Given the description of an element on the screen output the (x, y) to click on. 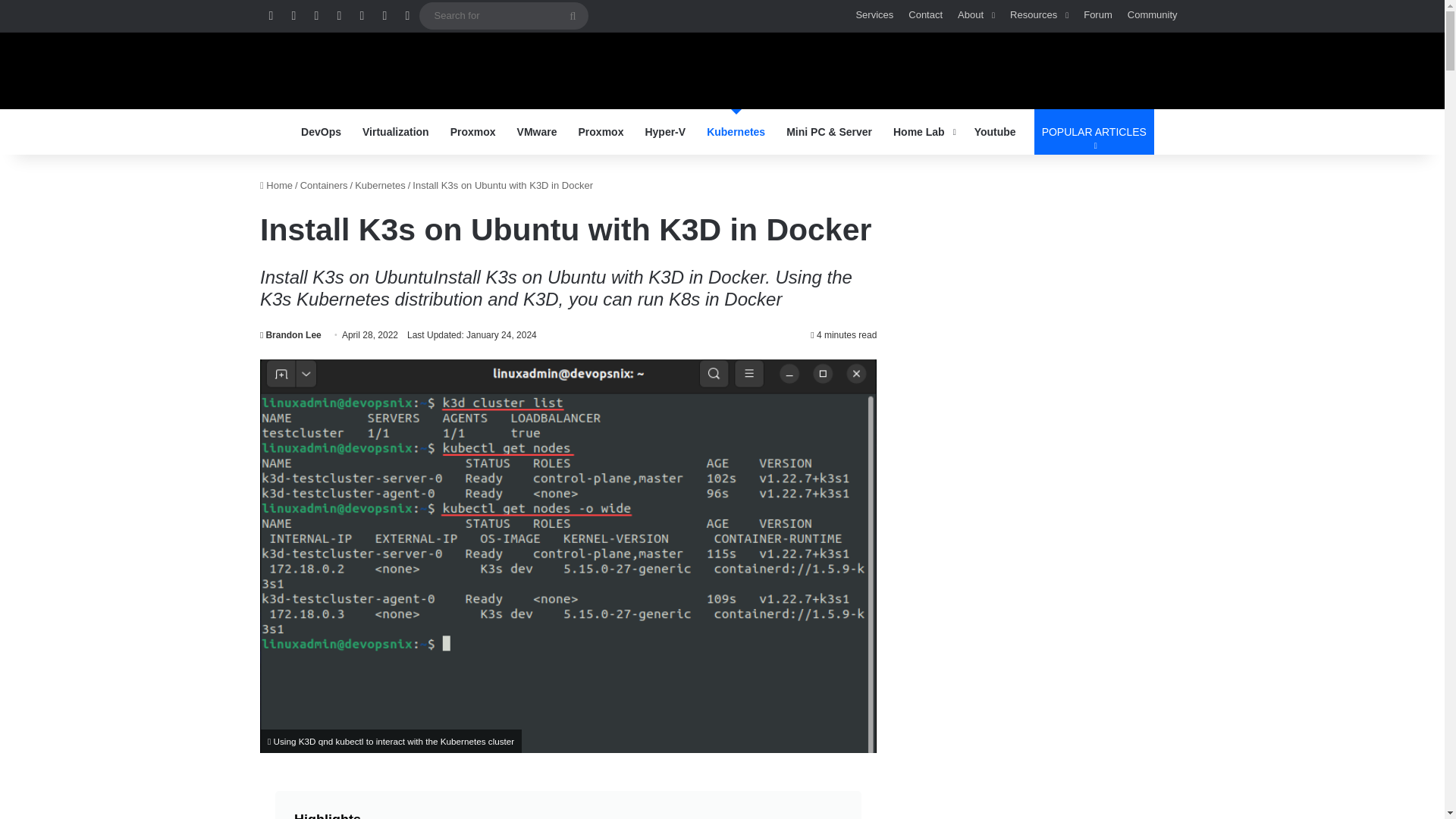
Search for (503, 15)
LinkedIn (338, 15)
Resources (1039, 15)
VMware (536, 131)
Proxmox (472, 131)
Services (874, 15)
Community (1152, 15)
Discord (407, 15)
X (315, 15)
RSS (270, 15)
DevOps (320, 131)
Search for (572, 15)
Forum (1097, 15)
About (976, 15)
Kubernetes (735, 131)
